Given the description of an element on the screen output the (x, y) to click on. 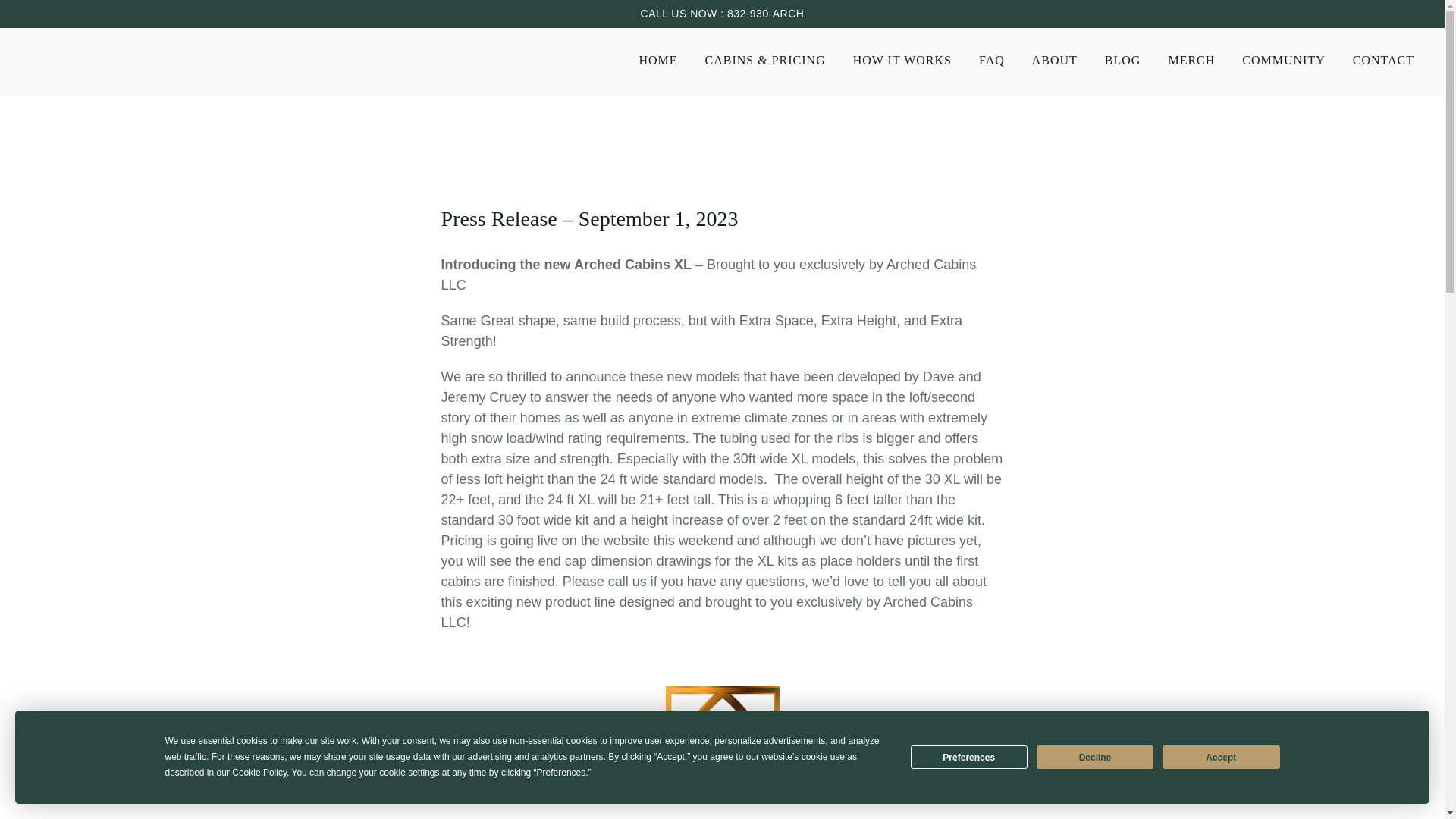
COMMUNITY (1282, 61)
AC-GoldXL Logo (721, 743)
Decline (1094, 757)
Accept (1220, 757)
CONTACT (1382, 61)
Preferences (969, 757)
HOW IT WORKS (902, 61)
